Given the description of an element on the screen output the (x, y) to click on. 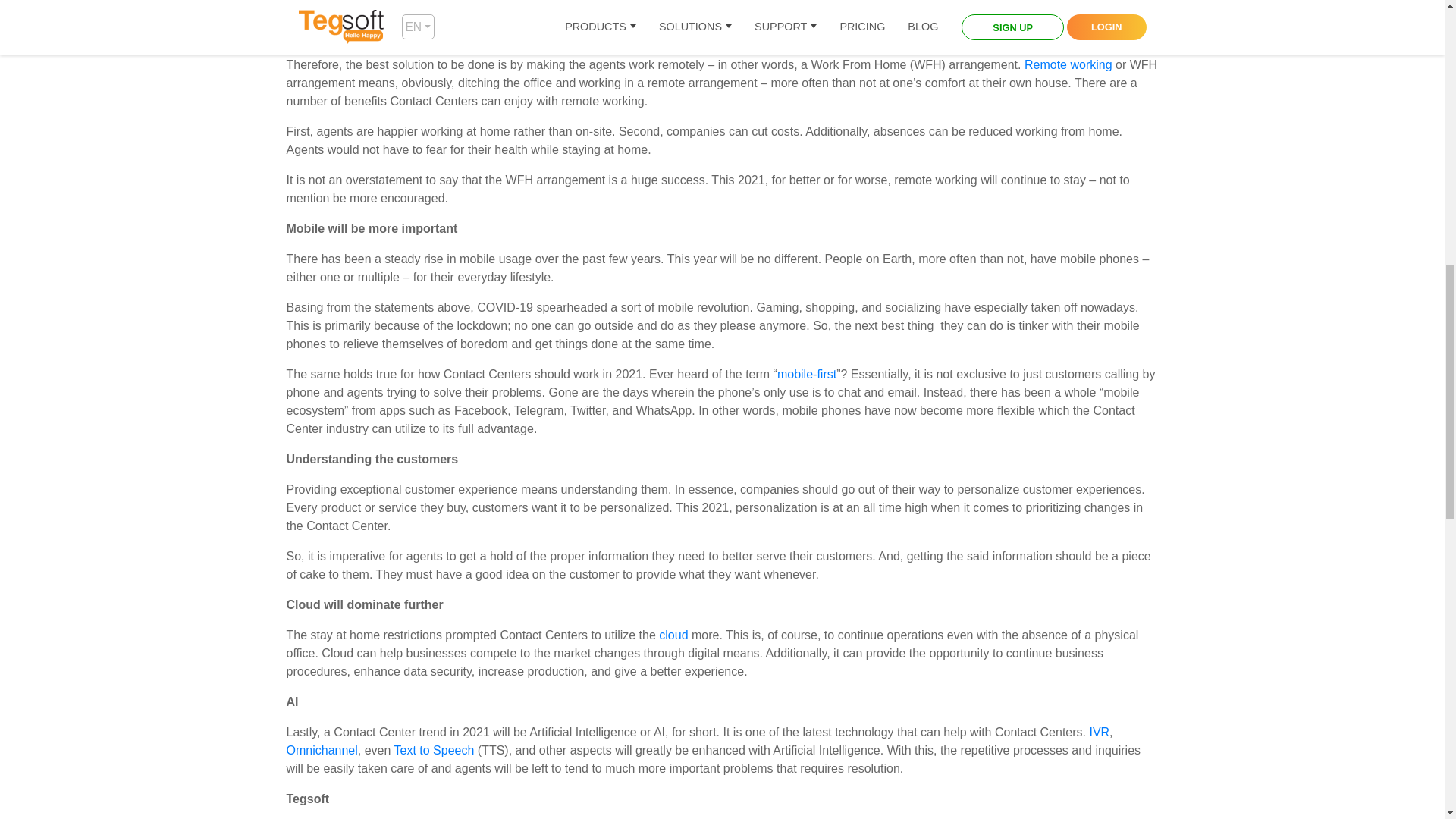
cloud (673, 634)
IVR (1099, 731)
mobile-first (806, 373)
Remote working (1068, 64)
